Given the description of an element on the screen output the (x, y) to click on. 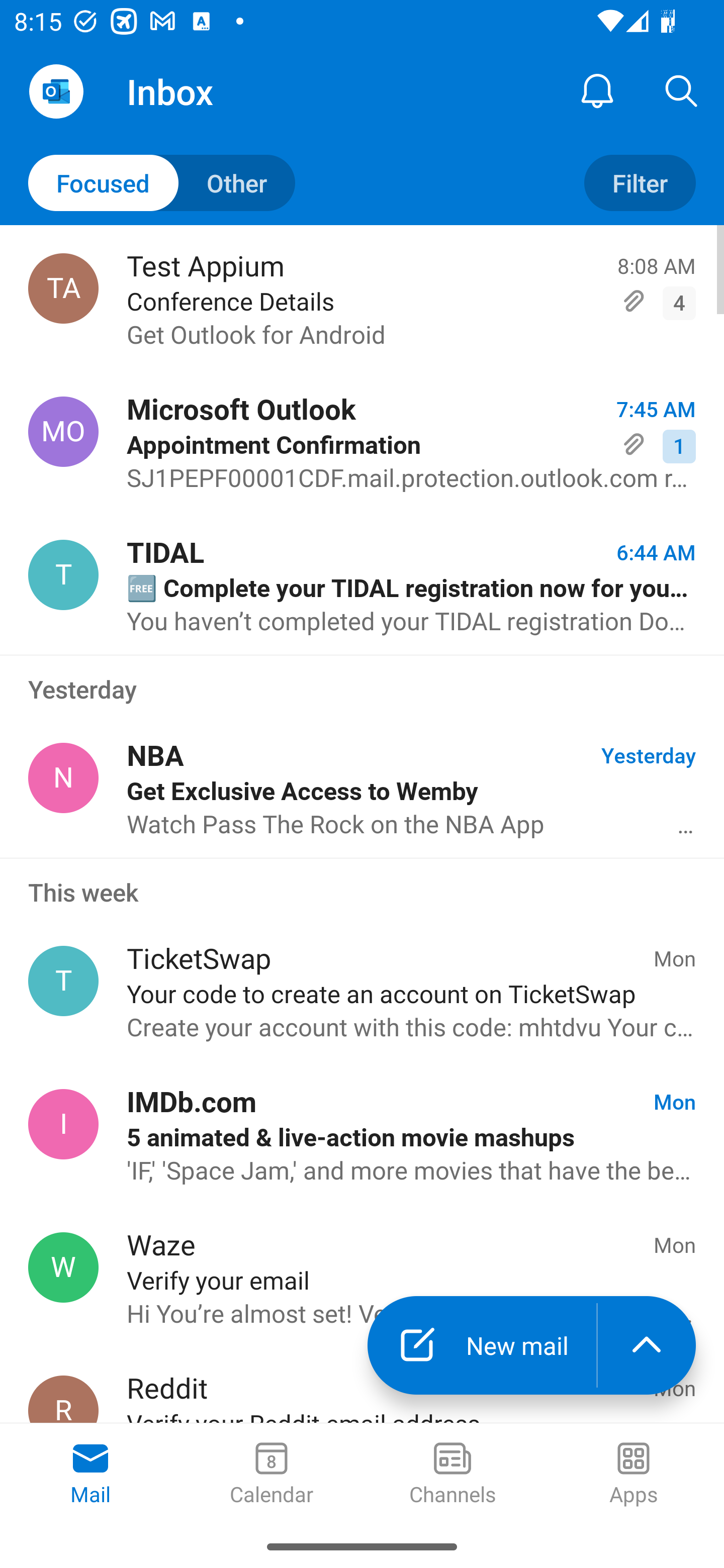
Notification Center (597, 90)
Search, ,  (681, 90)
Open Navigation Drawer (55, 91)
Toggle to other mails (161, 183)
Filter (639, 183)
Test Appium, testappium002@outlook.com (63, 288)
TIDAL, hello@email.tidal.com (63, 574)
NBA, NBA@email.nba.com (63, 778)
TicketSwap, info@ticketswap.com (63, 980)
IMDb.com, do-not-reply@imdb.com (63, 1123)
Waze, noreply@waze.com (63, 1267)
New mail (481, 1344)
